Given the description of an element on the screen output the (x, y) to click on. 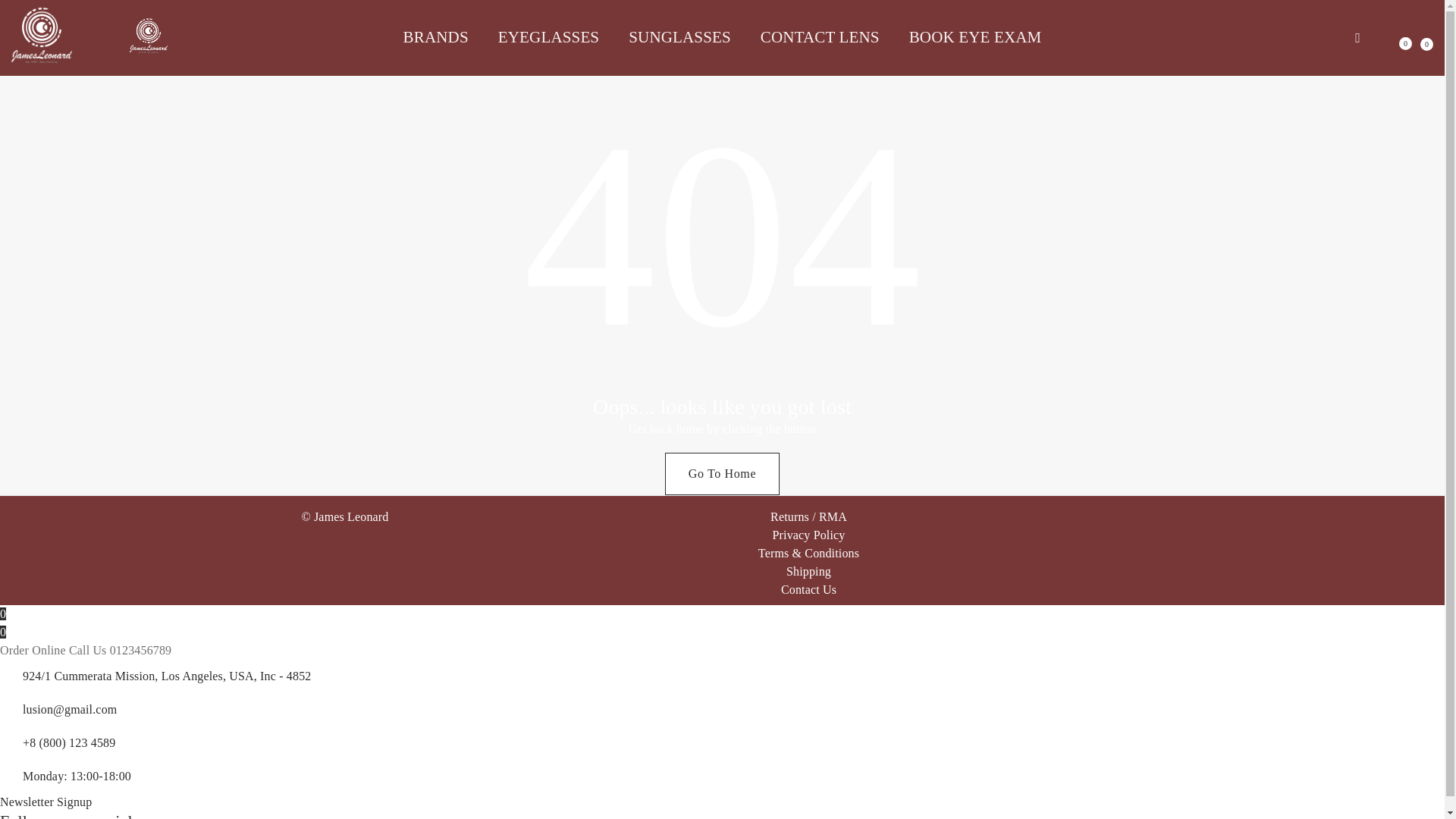
Go To Home (721, 473)
Shipping (808, 571)
BRANDS (443, 36)
BOOK EYE EXAM (968, 36)
0123456789 (140, 649)
EYEGLASSES (548, 36)
Contact Us (807, 589)
Privacy Policy (807, 534)
CONTACT LENS (820, 36)
Newsletter Signup (45, 801)
